Given the description of an element on the screen output the (x, y) to click on. 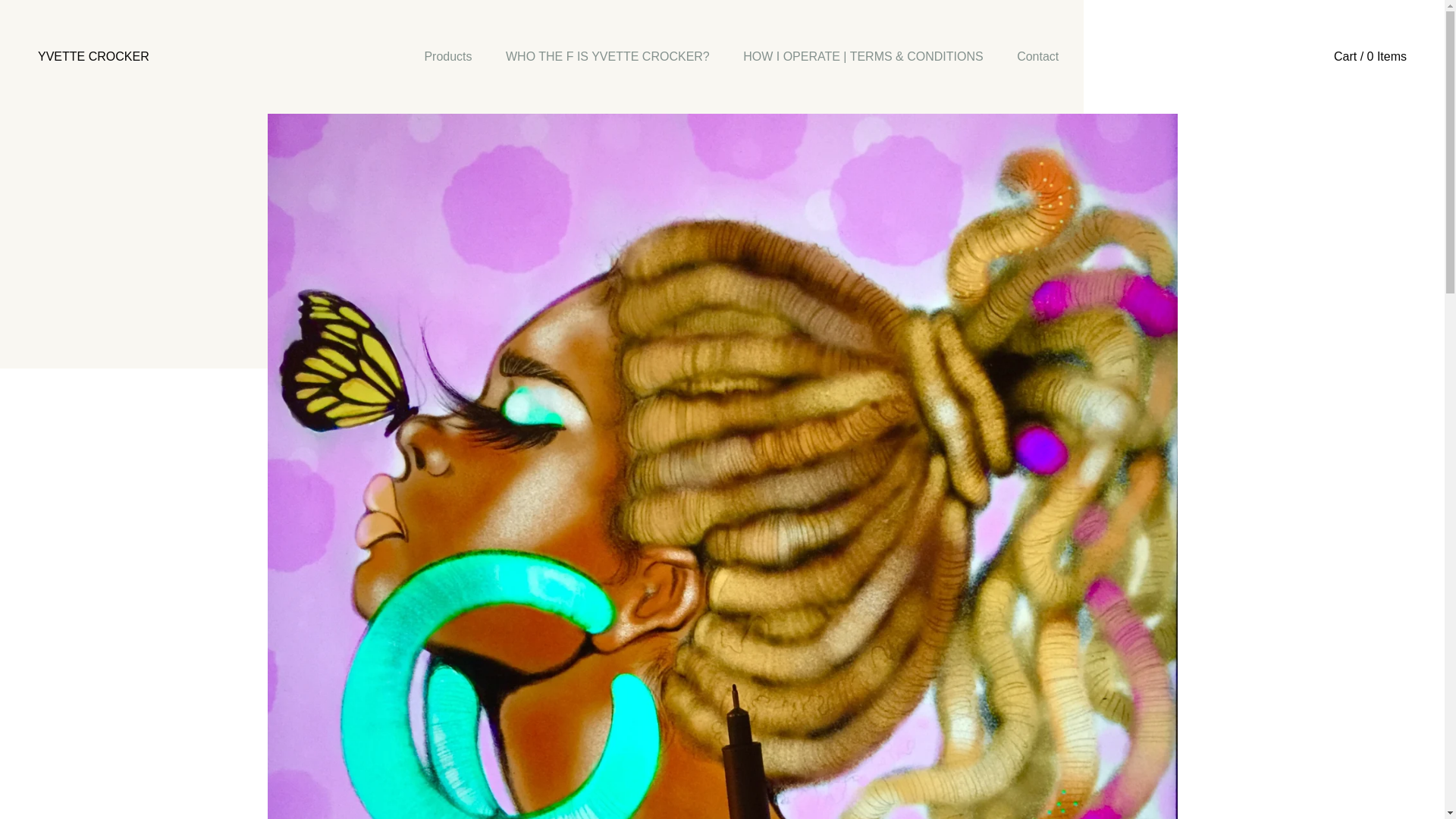
WHO THE F IS YVETTE CROCKER? (607, 56)
Products (447, 56)
Contact (1037, 56)
View WHO  THE F IS YVETTE CROCKER? (607, 56)
YVETTE CROCKER  (93, 56)
YVETTE CROCKER (93, 56)
